Given the description of an element on the screen output the (x, y) to click on. 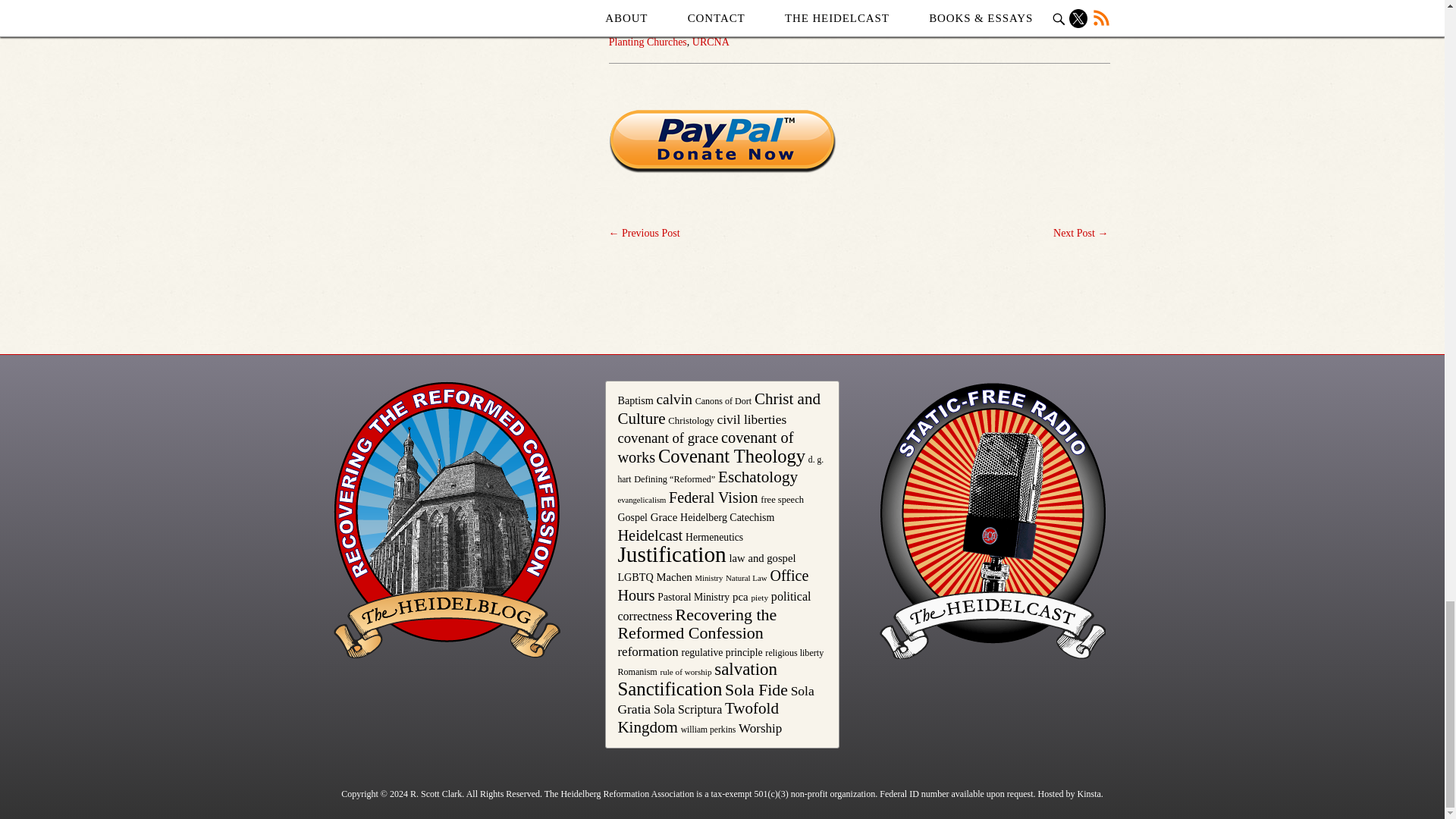
Support the Heidelblog! (721, 141)
